Given the description of an element on the screen output the (x, y) to click on. 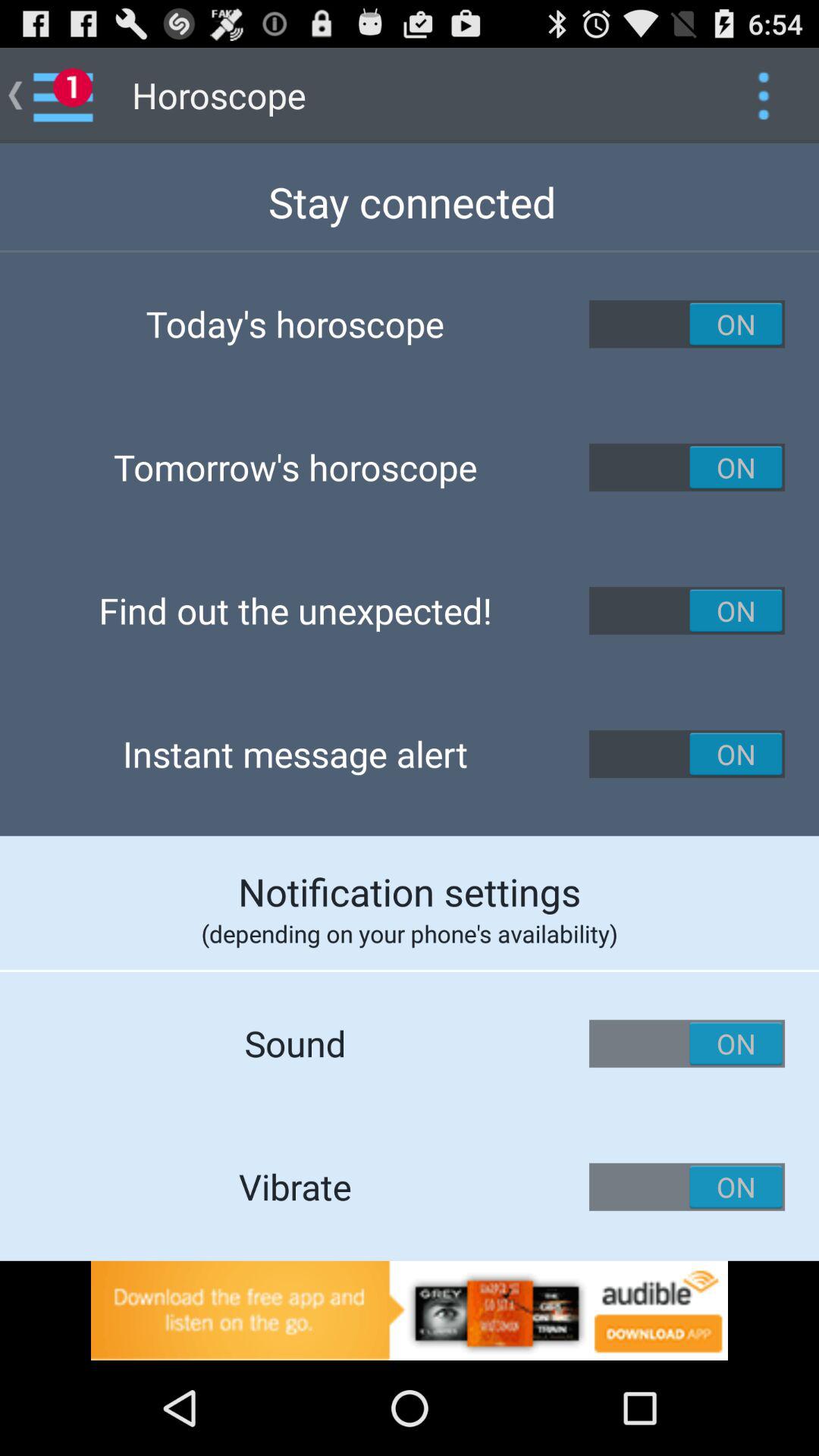
switch button (686, 467)
